Given the description of an element on the screen output the (x, y) to click on. 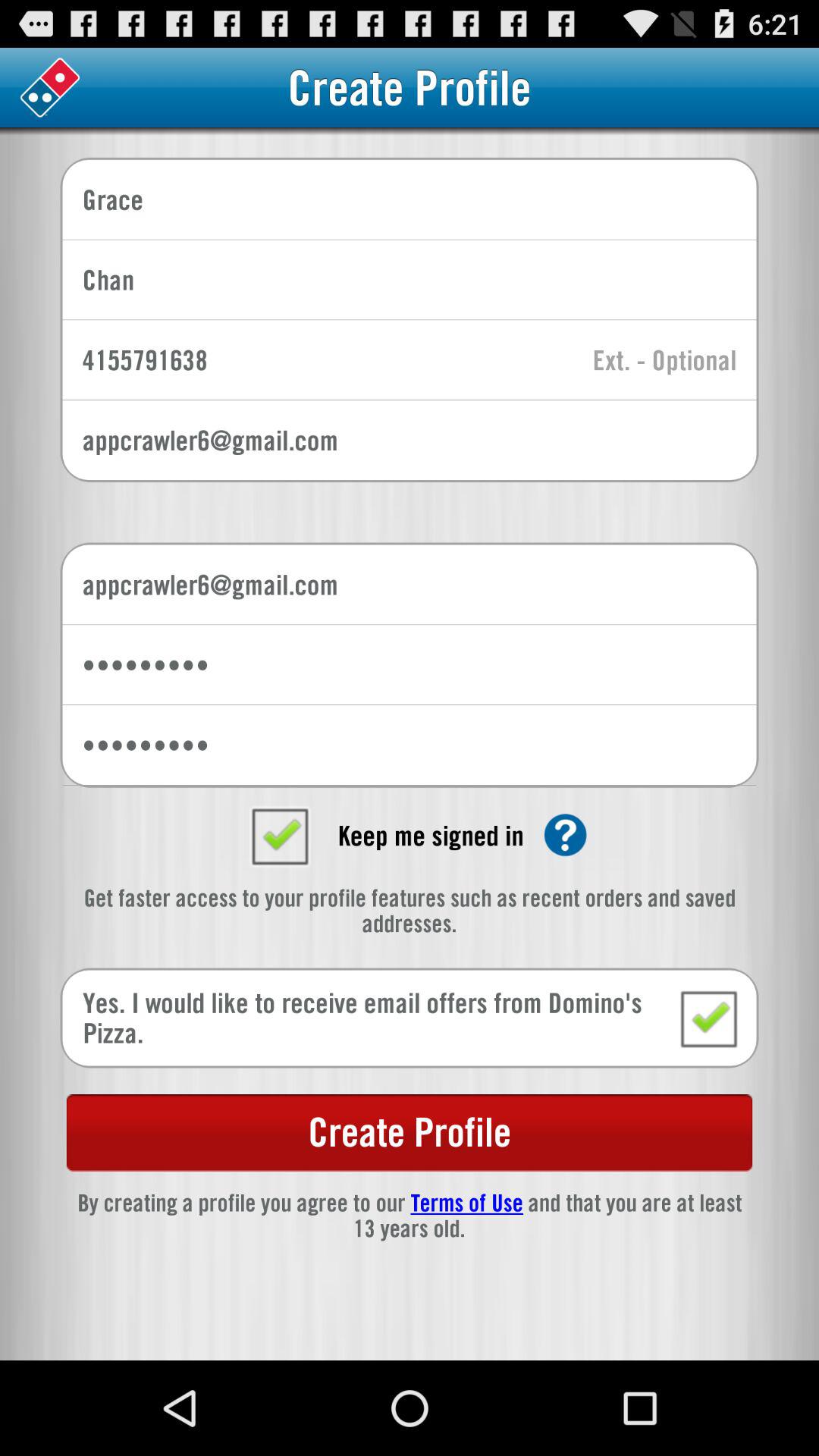
uncheck box (279, 835)
